Given the description of an element on the screen output the (x, y) to click on. 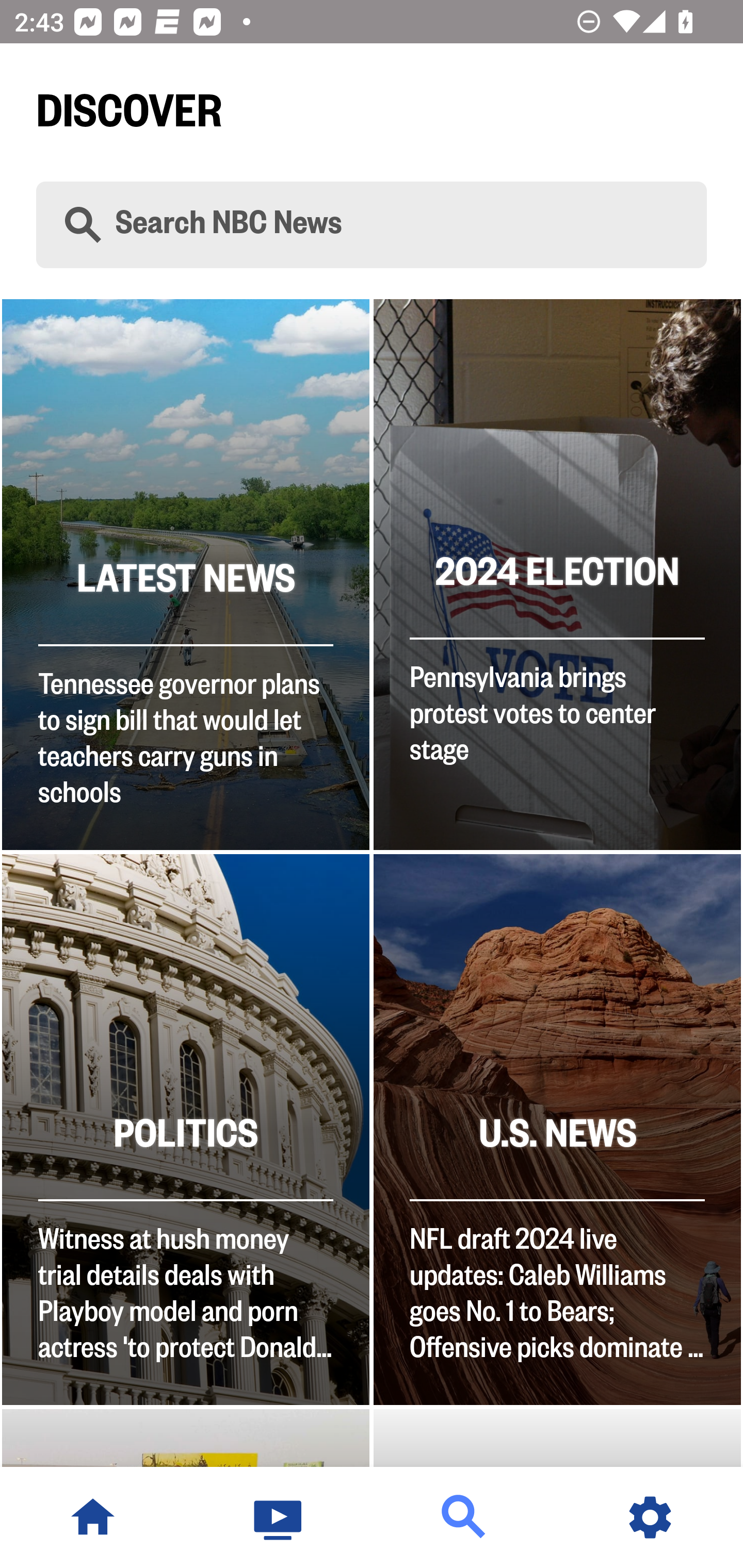
NBC News Home (92, 1517)
Watch (278, 1517)
Settings (650, 1517)
